Given the description of an element on the screen output the (x, y) to click on. 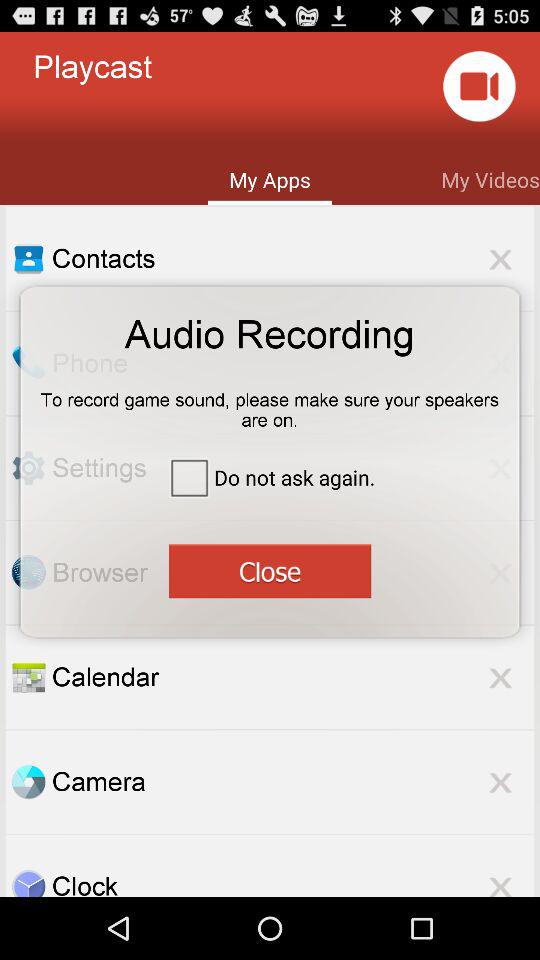
turn on the do not ask (269, 476)
